Given the description of an element on the screen output the (x, y) to click on. 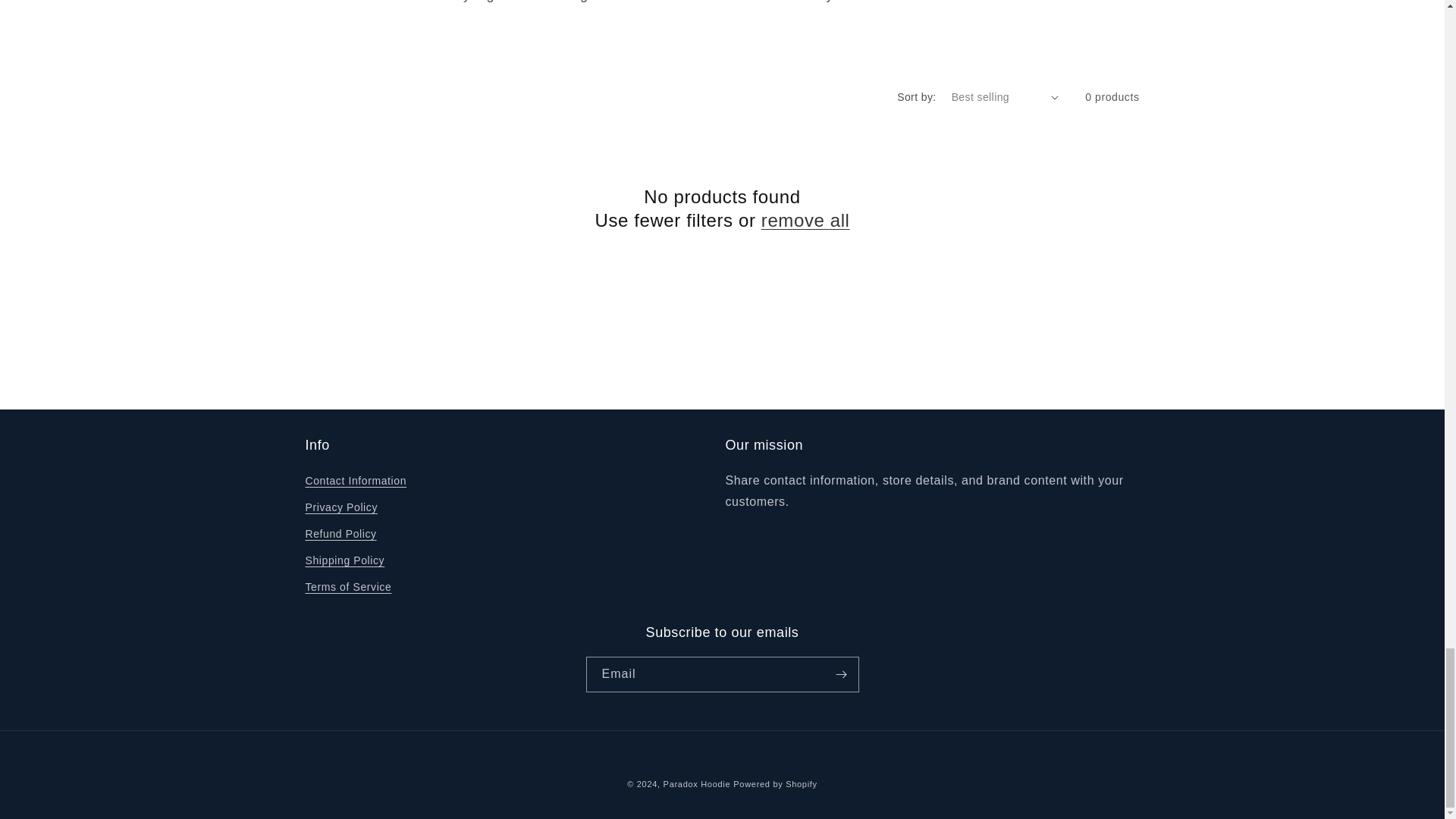
Terms of Service (347, 587)
Powered by Shopify (774, 783)
Refund Policy (339, 533)
Privacy Policy (340, 507)
Shipping Policy (344, 560)
Paradox Hoodie (696, 783)
remove all (805, 219)
Contact Information (355, 482)
